Given the description of an element on the screen output the (x, y) to click on. 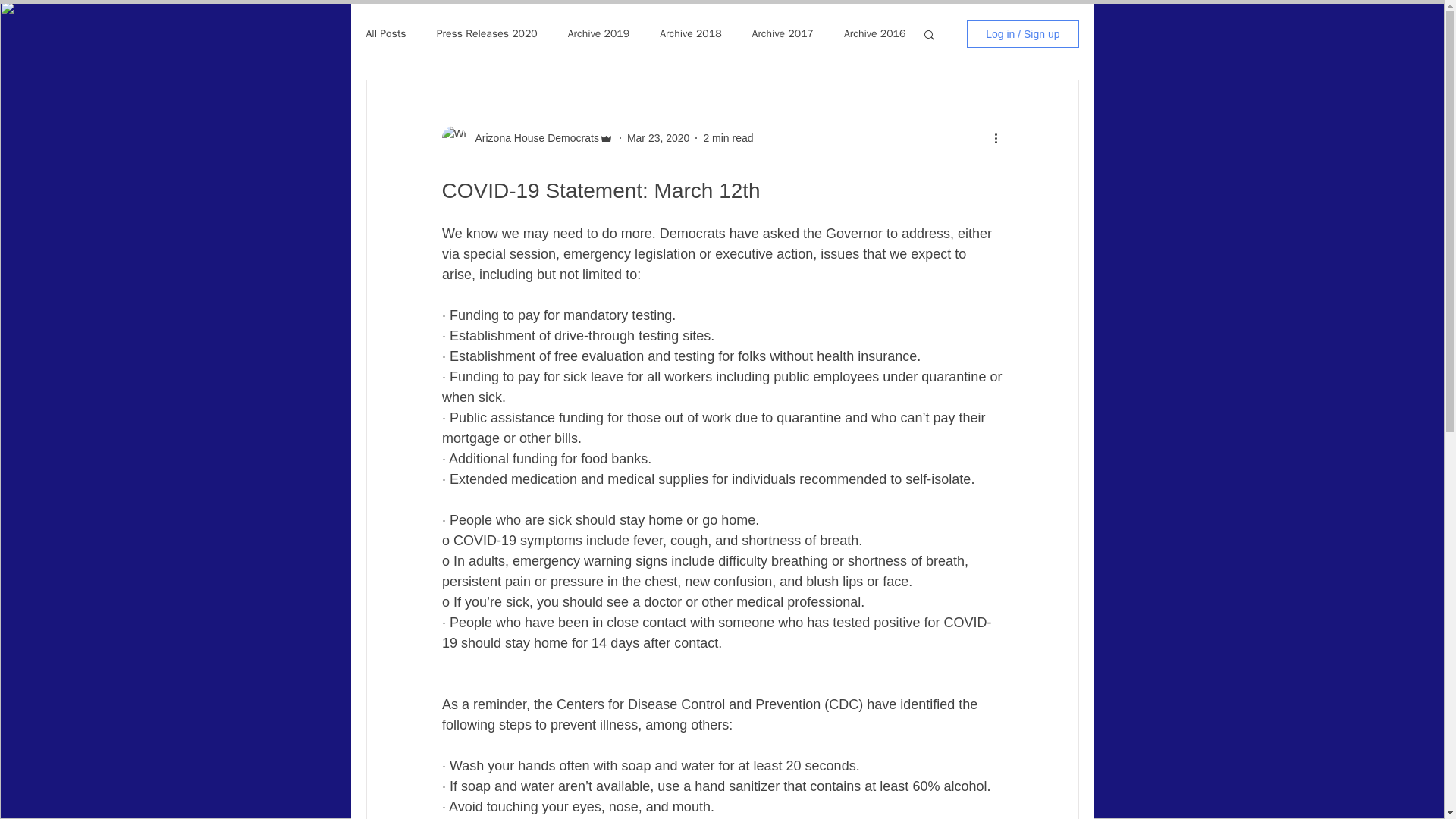
Archive 2019 (597, 33)
Arizona House Democrats (531, 138)
Archive 2016 (874, 33)
Archive 2017 (782, 33)
Archive 2018 (689, 33)
Mar 23, 2020 (658, 137)
Press Releases 2020 (486, 33)
All Posts (385, 33)
2 min read (727, 137)
